Given the description of an element on the screen output the (x, y) to click on. 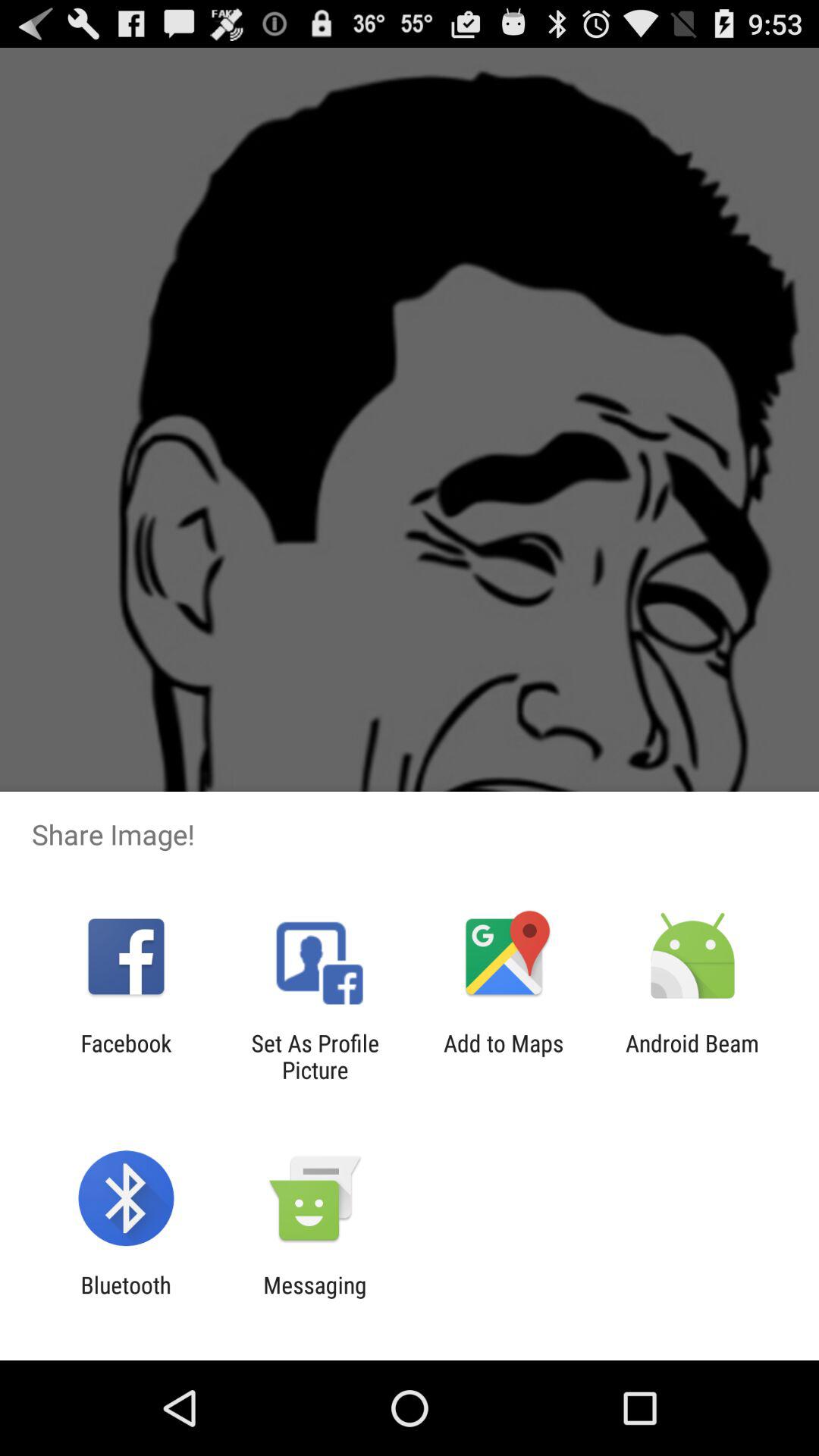
select the item next to the set as profile icon (503, 1056)
